Given the description of an element on the screen output the (x, y) to click on. 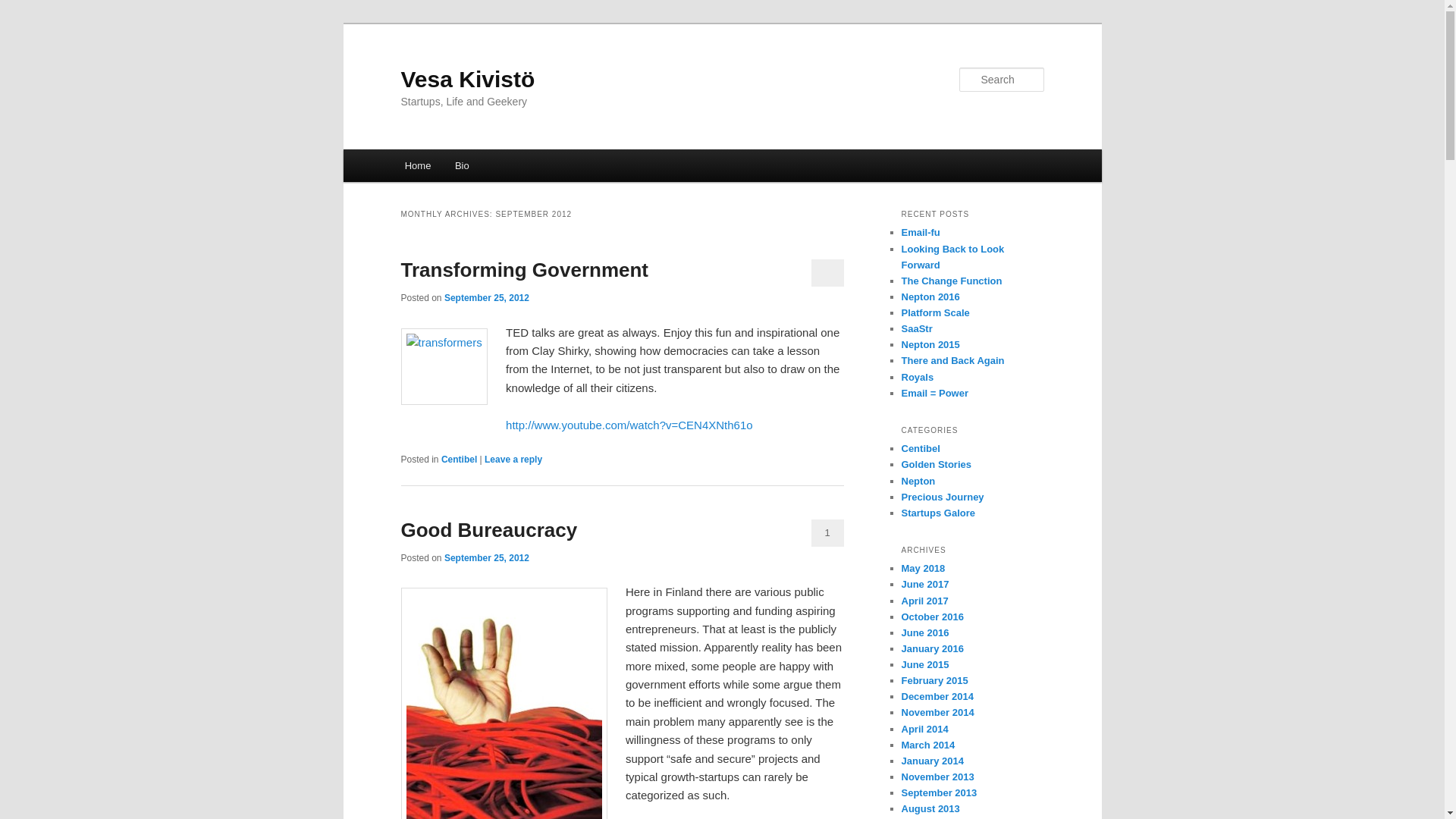
23:24 (486, 297)
Home (417, 165)
Transforming Government (523, 269)
Good Bureaucracy (488, 529)
1 (827, 533)
22:06 (486, 557)
September 25, 2012 (486, 557)
Leave a reply (512, 459)
Search (24, 8)
Bio (461, 165)
